Given the description of an element on the screen output the (x, y) to click on. 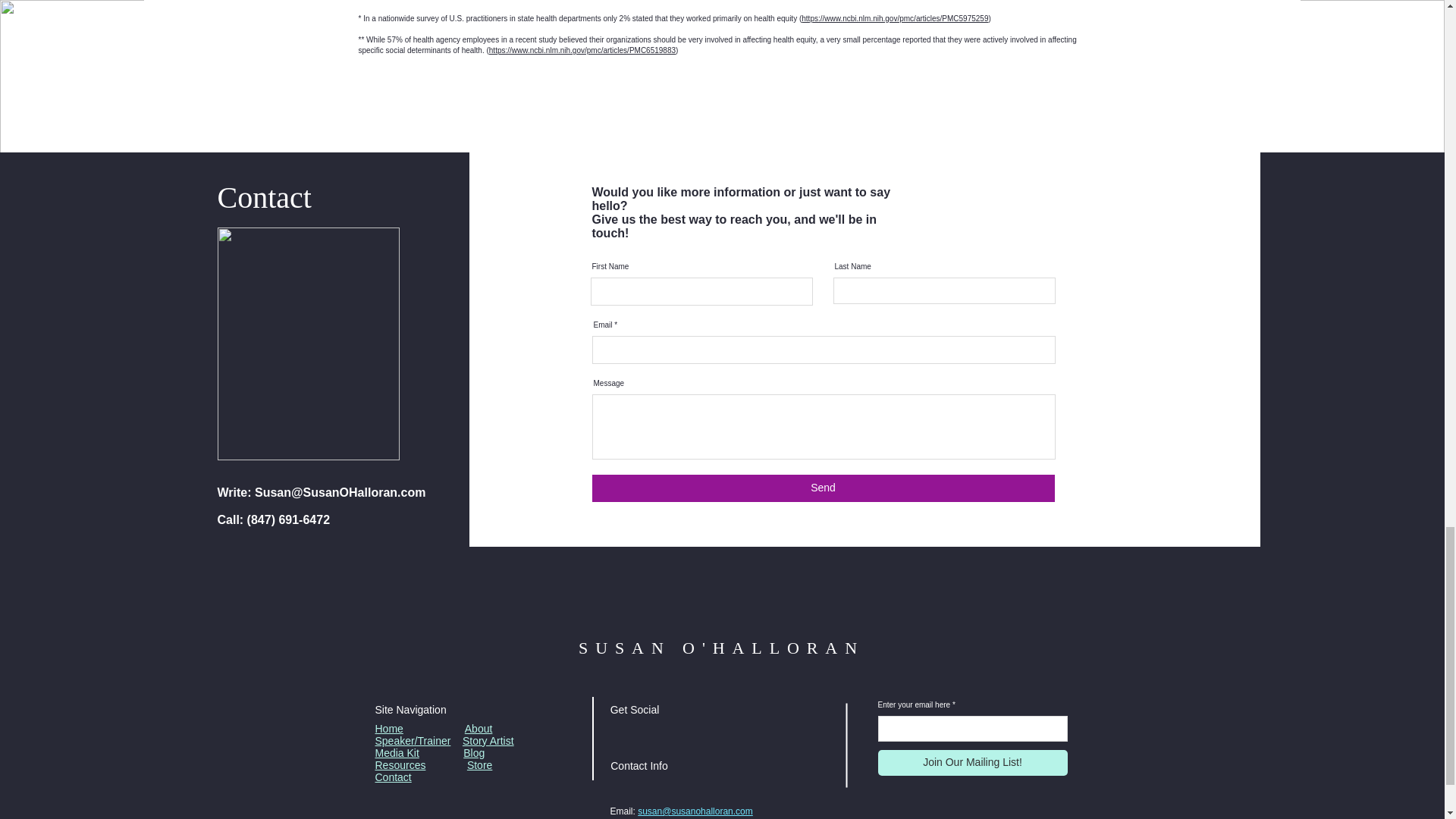
SUSAN O'HALLORAN (721, 647)
Join Our Mailing List! (972, 762)
About (478, 728)
Home (388, 728)
Store (479, 765)
Contact (392, 776)
Resources (399, 765)
Send (822, 488)
Media Kit (396, 752)
Blog (473, 752)
